Given the description of an element on the screen output the (x, y) to click on. 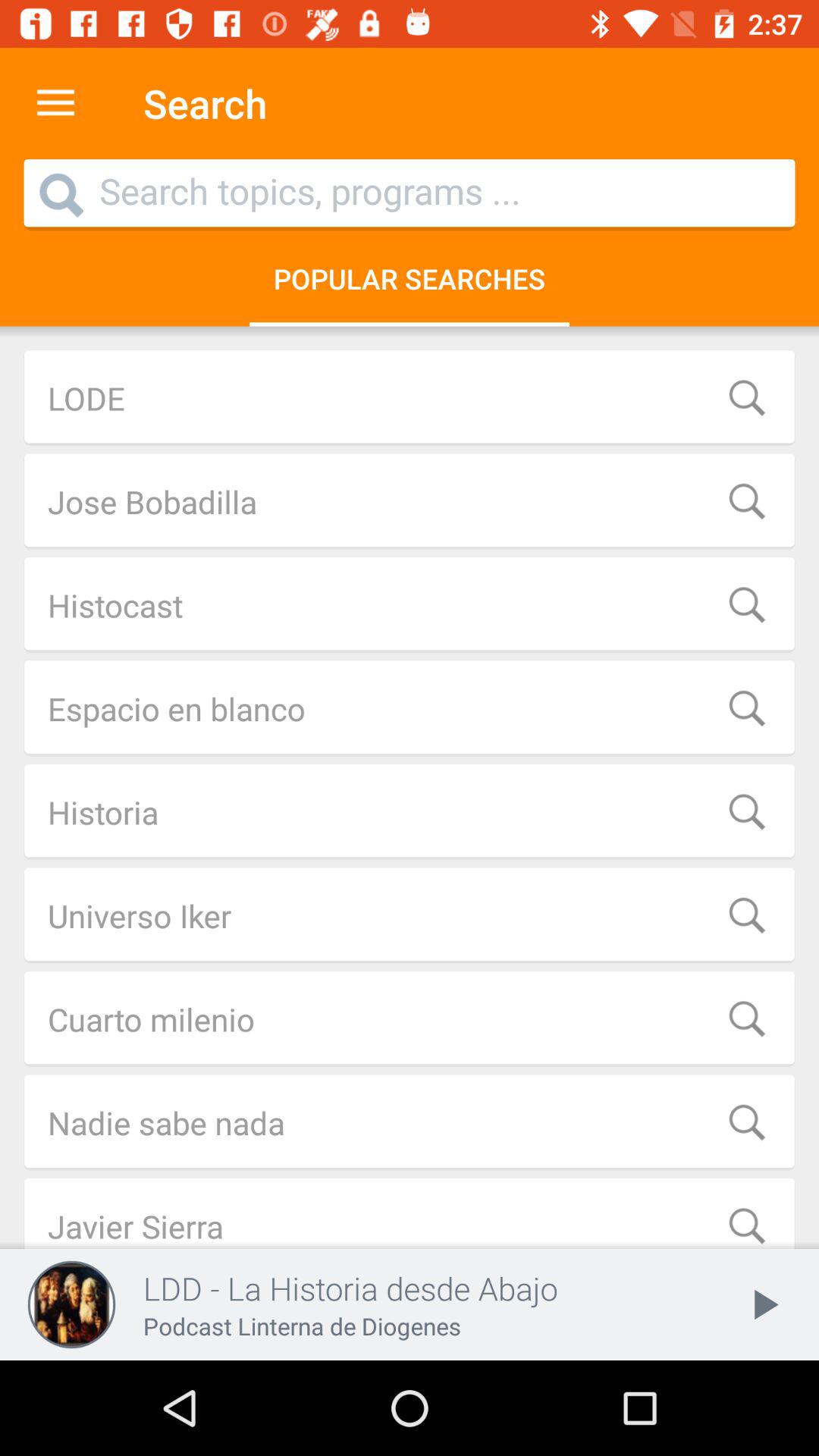
jump to the cuarto milenio icon (409, 1018)
